Given the description of an element on the screen output the (x, y) to click on. 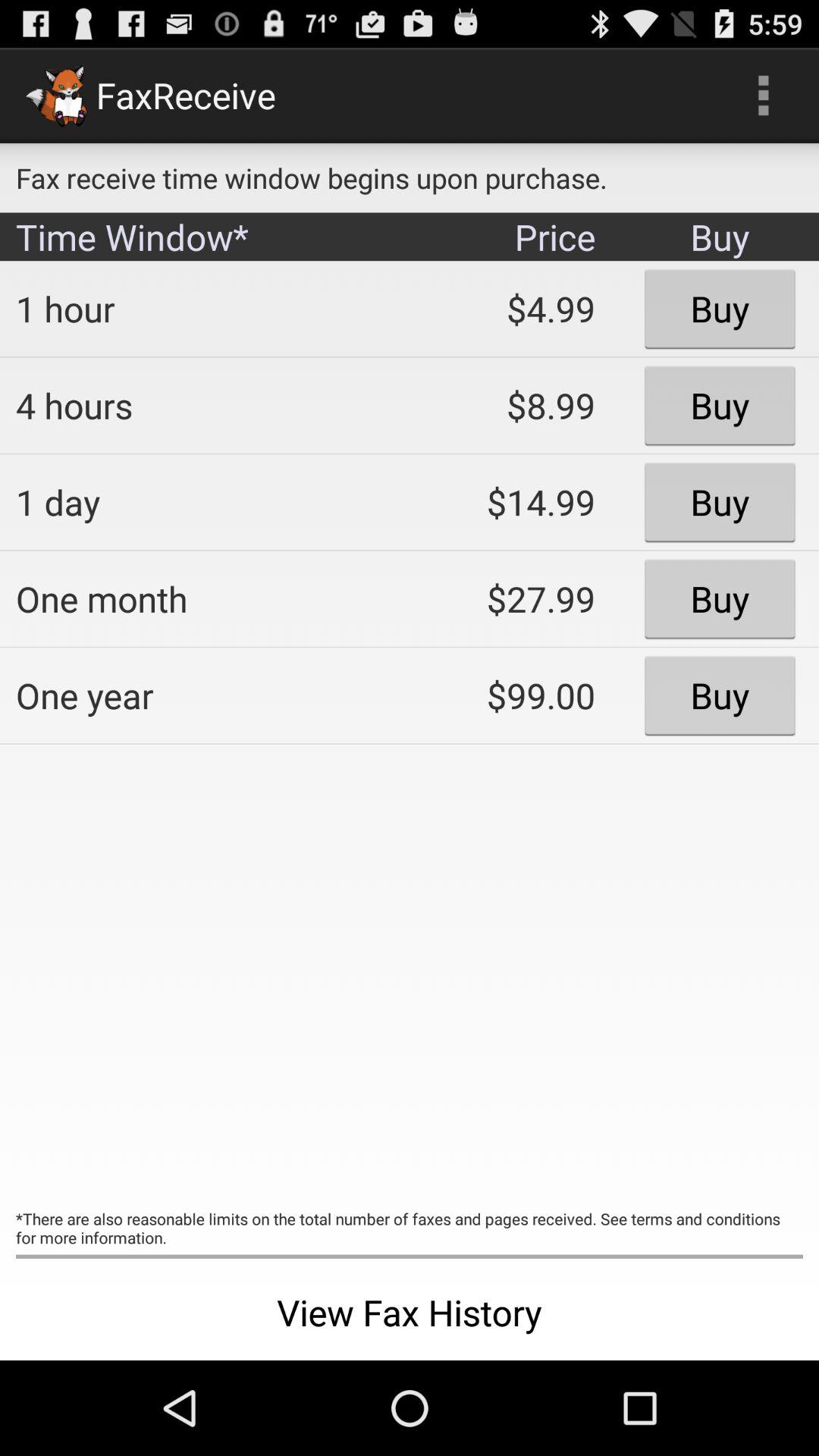
choose app below time window* icon (201, 308)
